Given the description of an element on the screen output the (x, y) to click on. 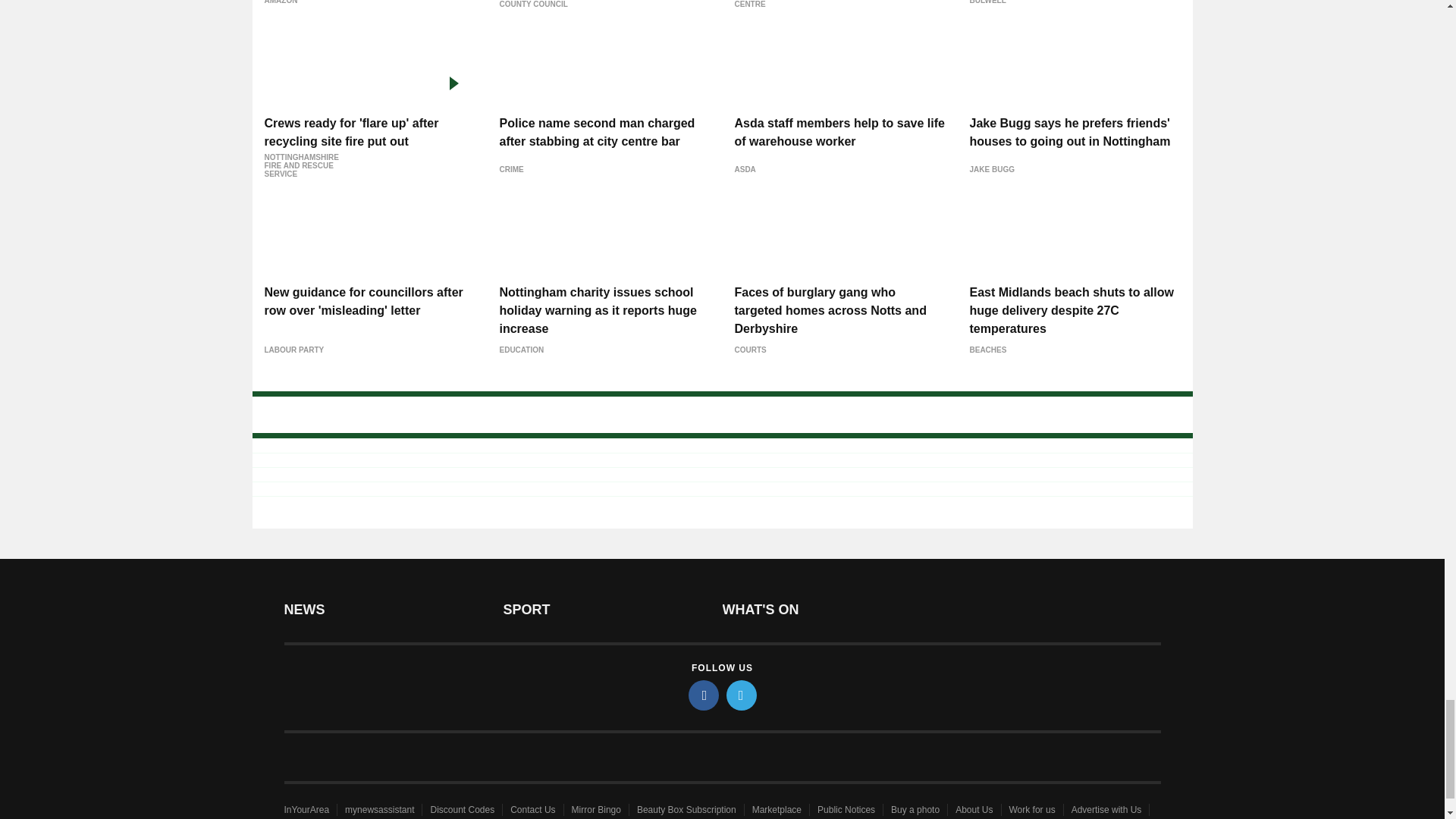
facebook (703, 695)
twitter (741, 695)
